Given the description of an element on the screen output the (x, y) to click on. 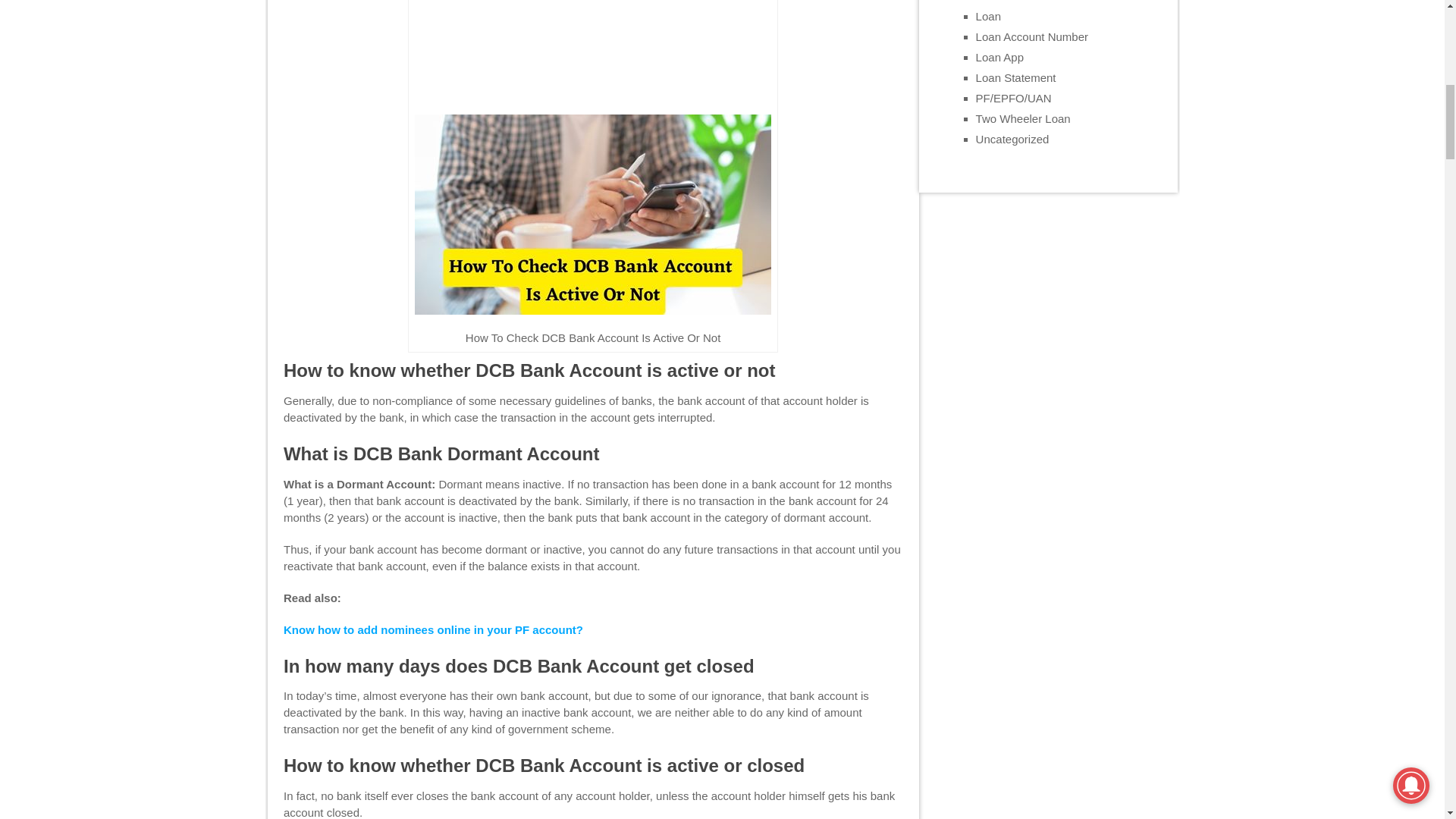
Advertisement (592, 54)
Know how to add nominees online in your PF account? (433, 629)
